Given the description of an element on the screen output the (x, y) to click on. 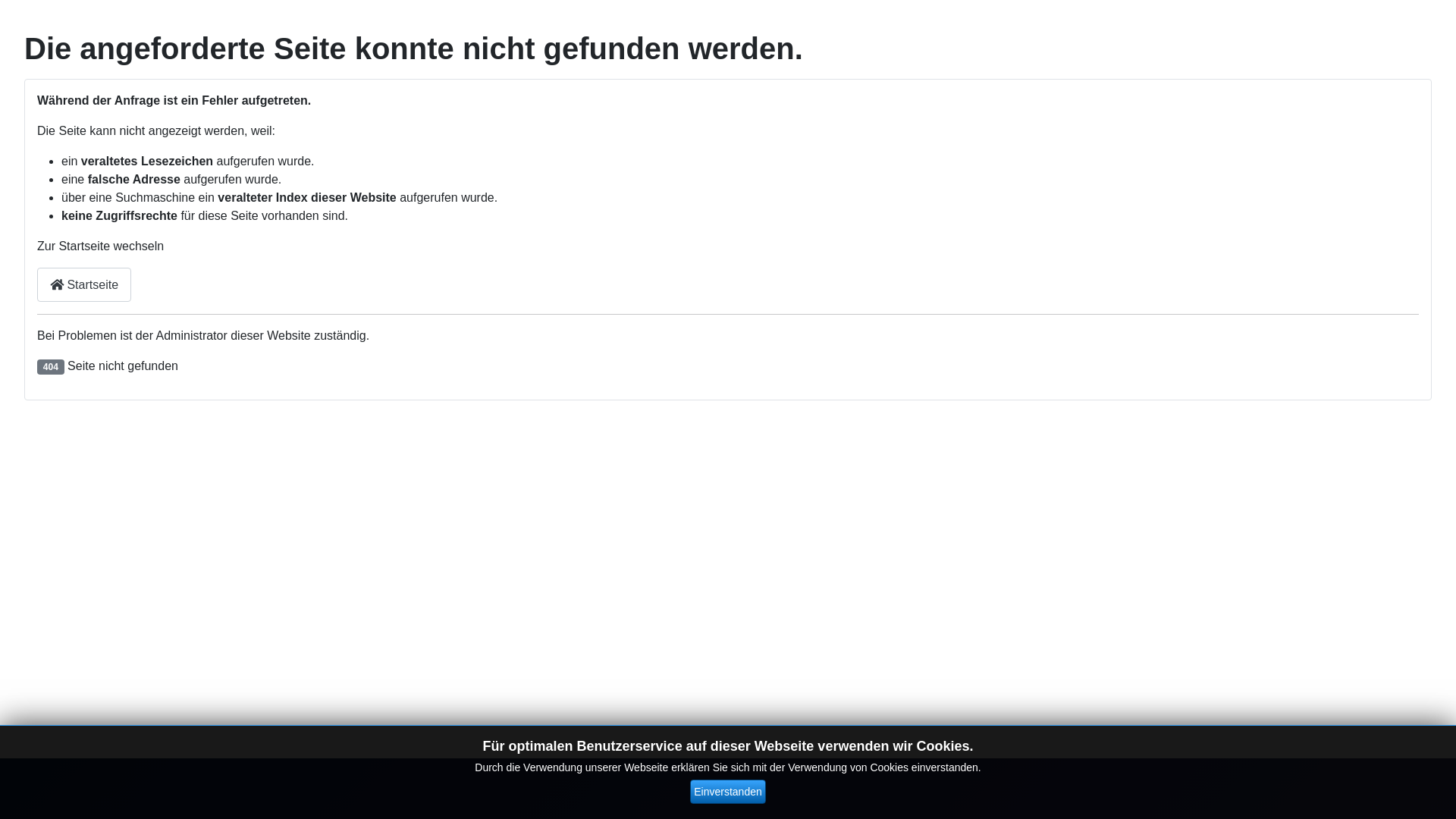
Startseite Element type: text (84, 284)
